Given the description of an element on the screen output the (x, y) to click on. 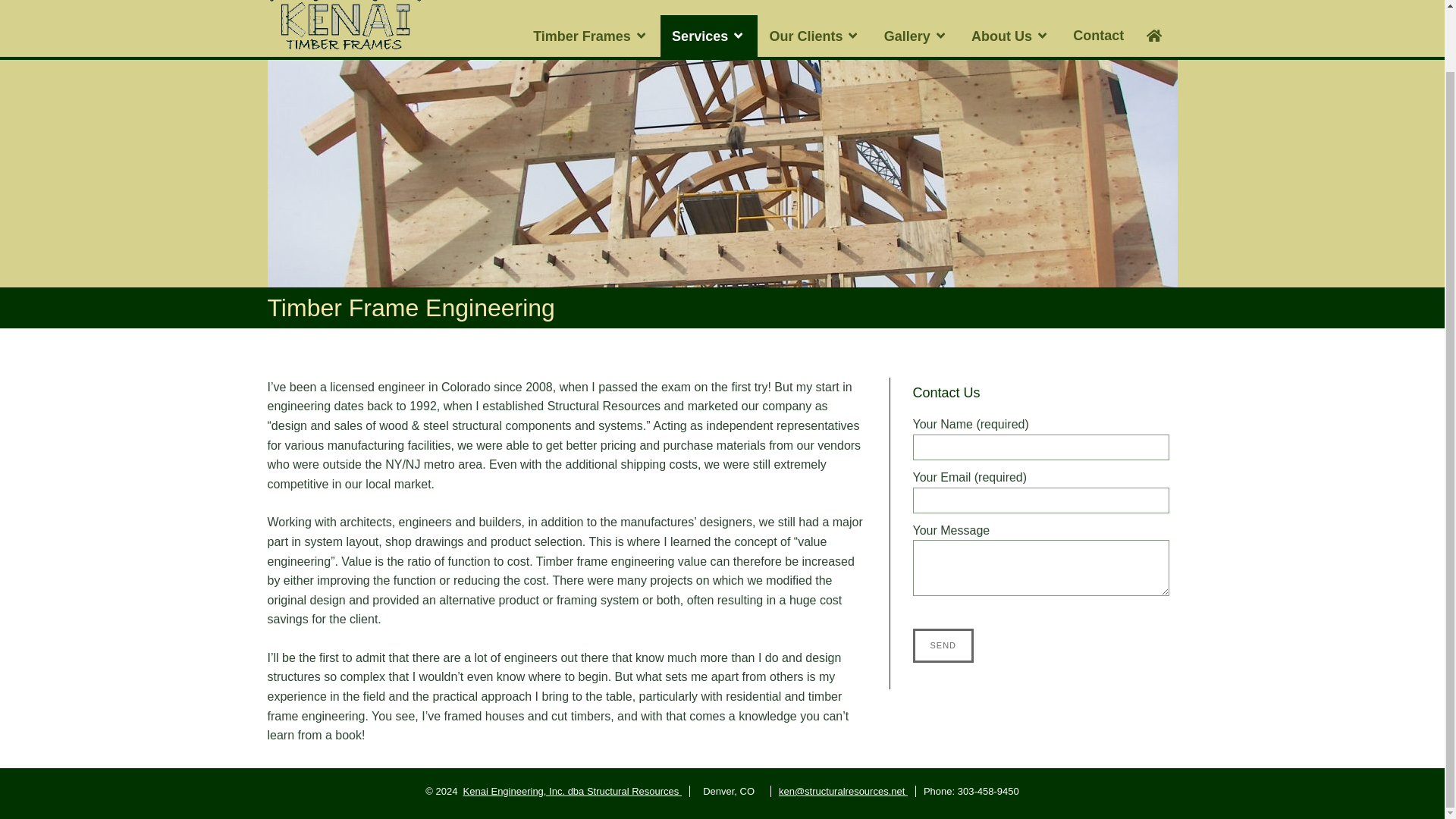
Gallery (915, 35)
Send (943, 645)
Services (709, 35)
Timber Frames (591, 35)
Send (943, 645)
About Us (1010, 35)
Our Clients (814, 35)
Contact (1098, 35)
Kenai Engineering, Inc. dba Structural Resources (572, 790)
